Given the description of an element on the screen output the (x, y) to click on. 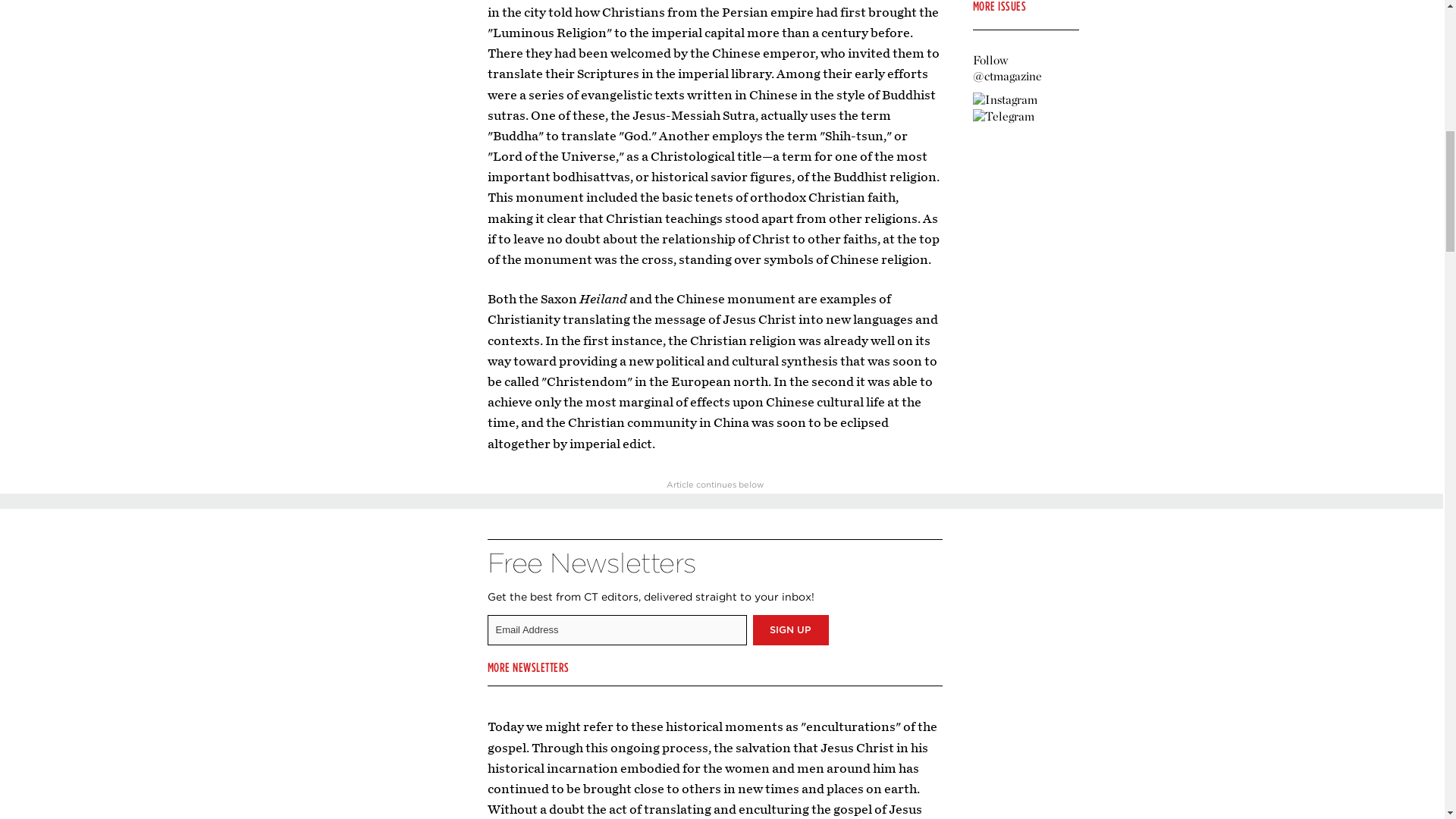
Email Address (615, 629)
Sign Up (790, 629)
